Given the description of an element on the screen output the (x, y) to click on. 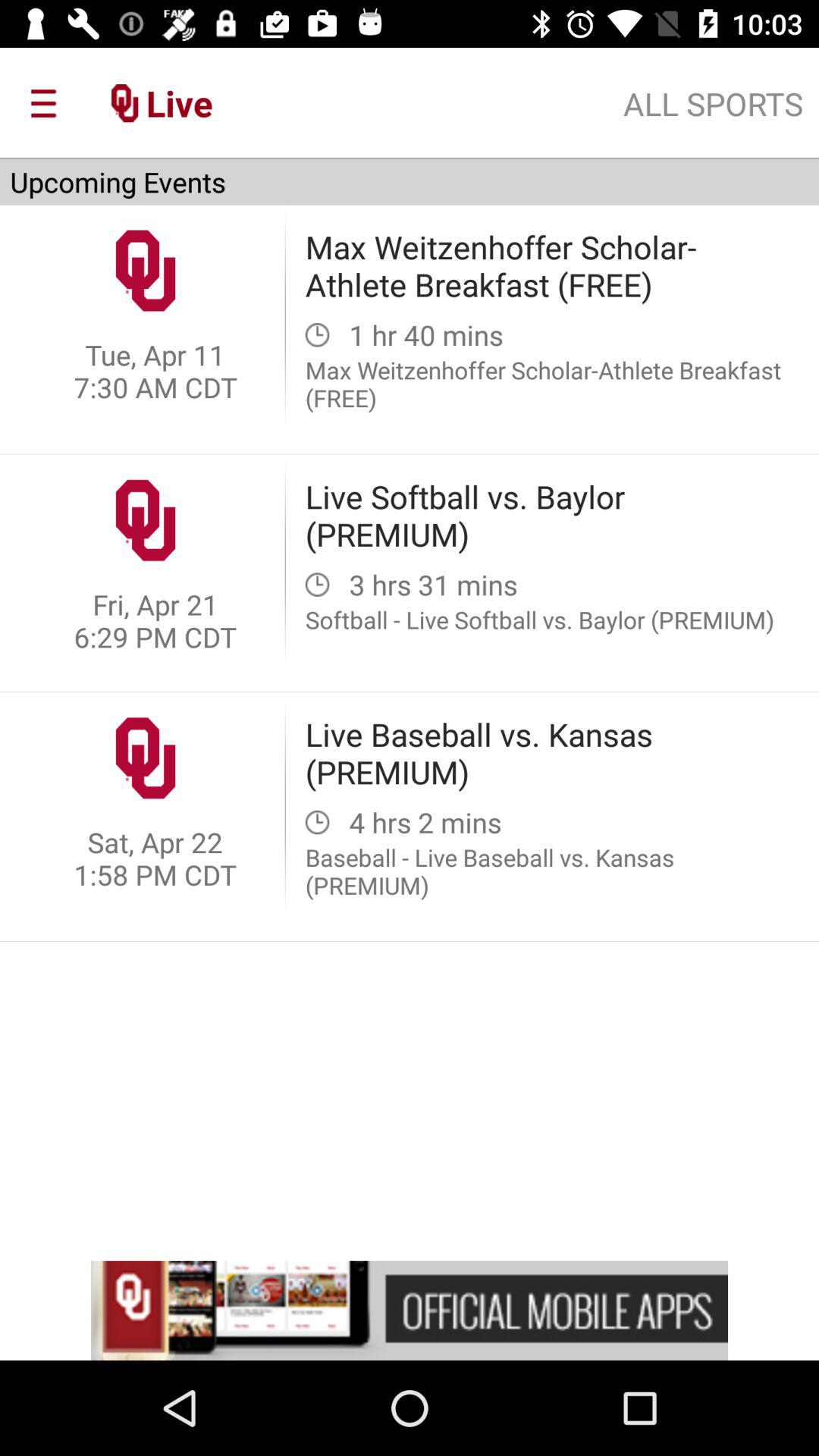
open advertisement (409, 1310)
